Given the description of an element on the screen output the (x, y) to click on. 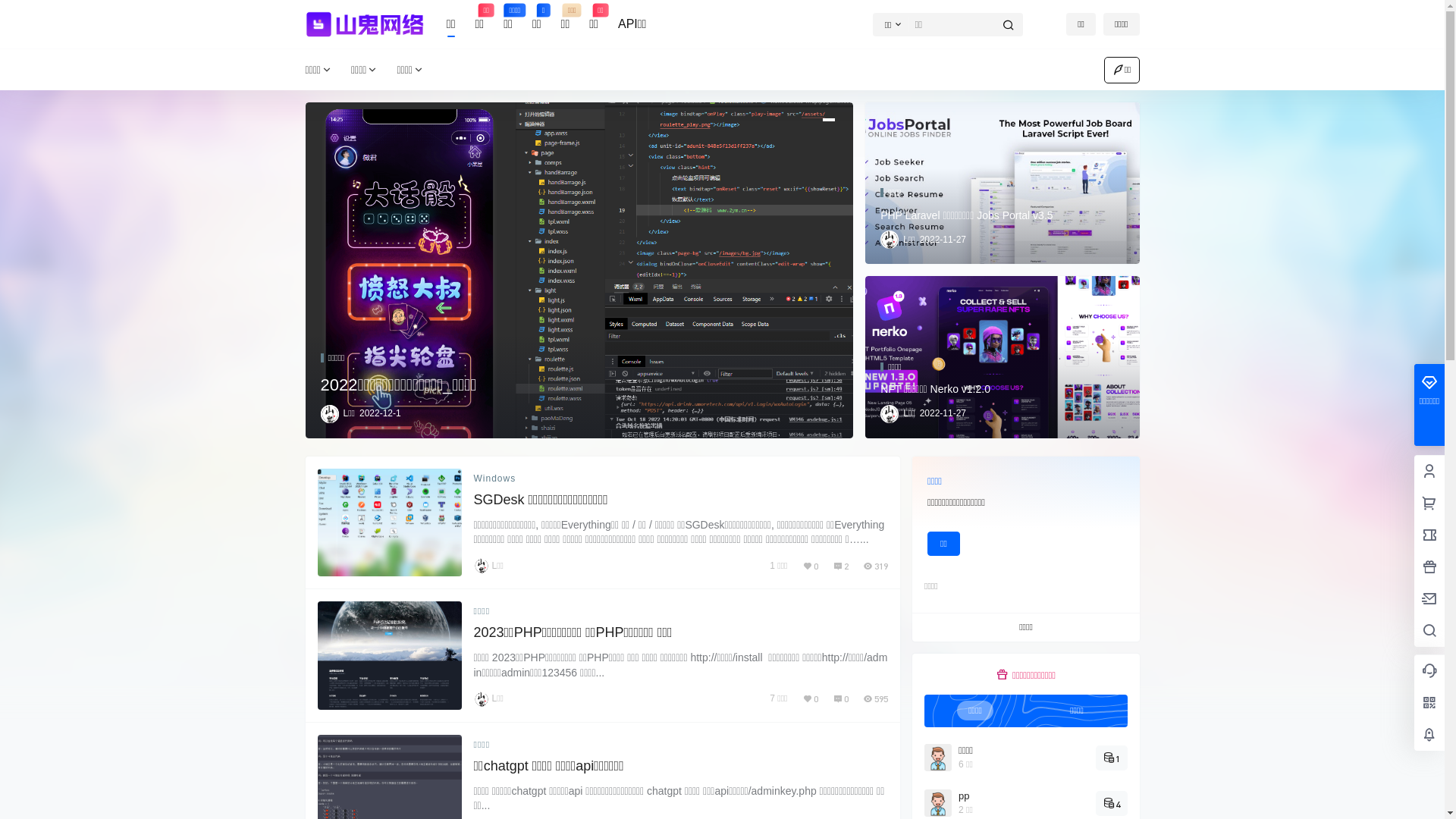
ok Element type: text (10, 10)
Windows Element type: text (494, 478)
pp Element type: text (965, 796)
